Given the description of an element on the screen output the (x, y) to click on. 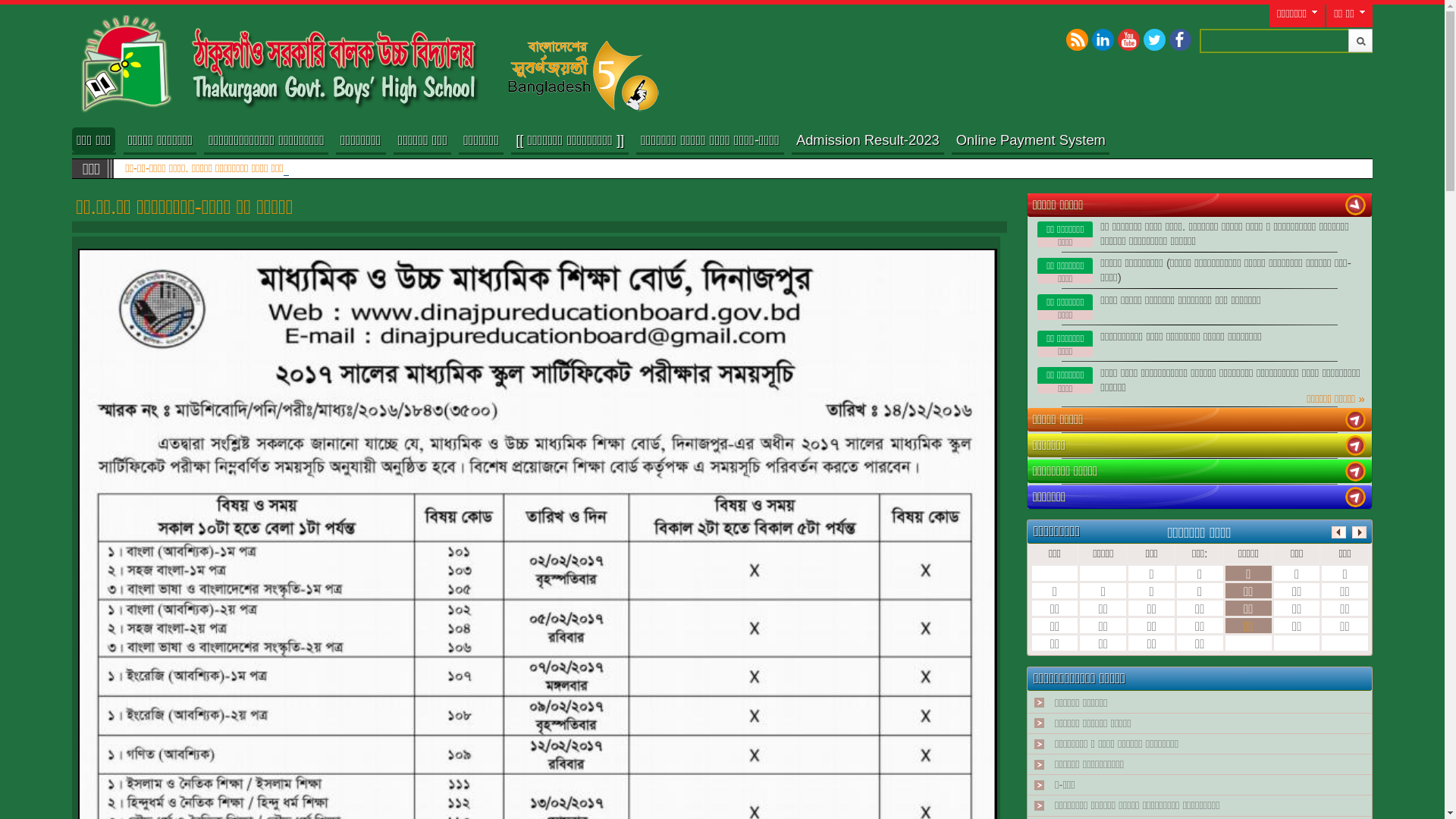
Submit Element type: text (1360, 40)
  Element type: text (1355, 419)
Online Payment System Element type: text (1030, 140)
  Element type: text (1355, 496)
  Element type: text (1355, 204)
  Element type: text (1355, 445)
Admission Result-2023 Element type: text (867, 140)
  Element type: text (1355, 471)
